Given the description of an element on the screen output the (x, y) to click on. 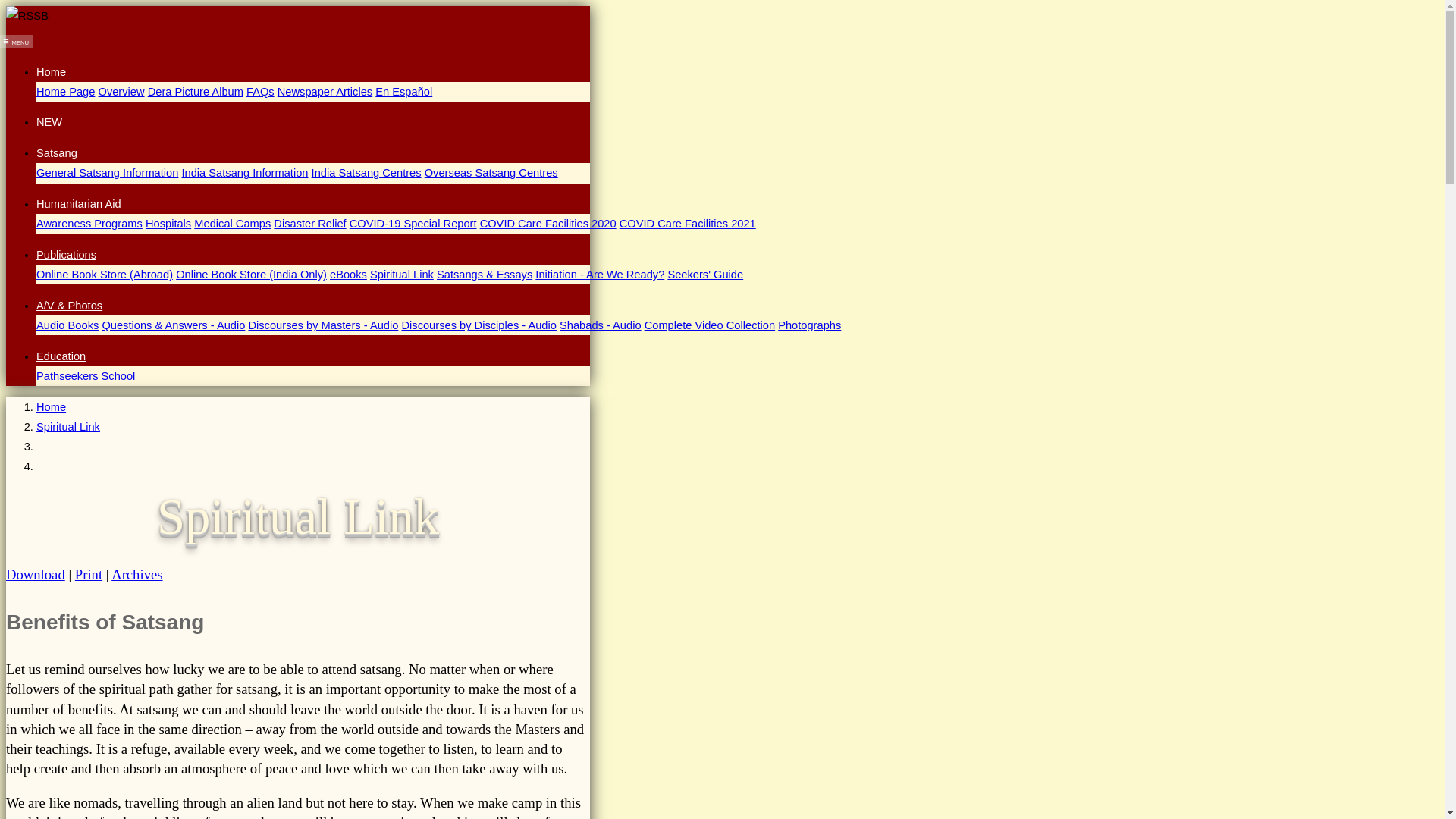
Seekers' Guide (704, 274)
Disaster Relief (309, 223)
Home (50, 71)
Education (60, 356)
COVID Care Facilities 2021 (687, 223)
NEW (49, 121)
Audio Books (67, 325)
Photographs (809, 325)
COVID Care Facilities 2020 (547, 223)
Discourses by Disciples - Audio (478, 325)
Home Page (65, 91)
Awareness Programs (89, 223)
Spiritual Link (401, 274)
Discourses by Masters - Audio (322, 325)
India Satsang Centres (366, 173)
